Given the description of an element on the screen output the (x, y) to click on. 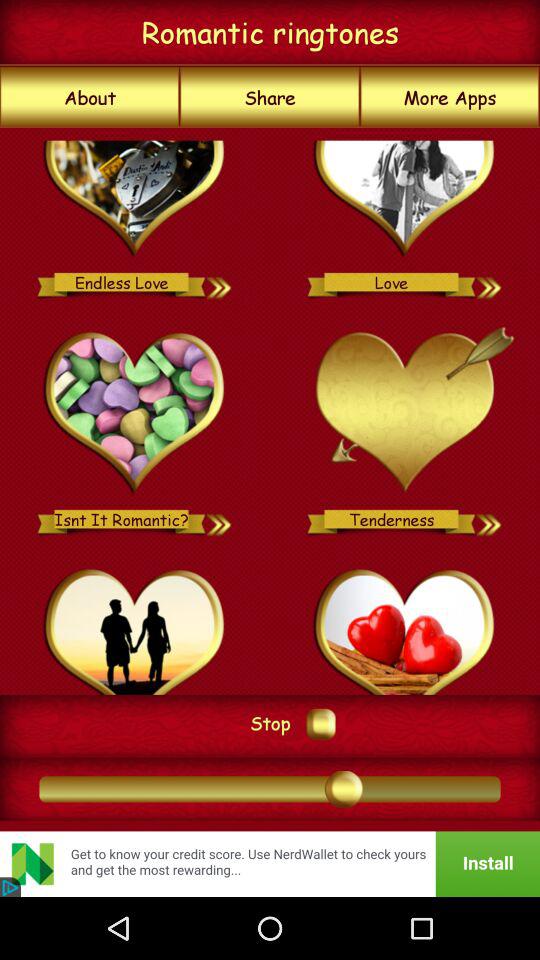
click the stop icon (269, 722)
